Given the description of an element on the screen output the (x, y) to click on. 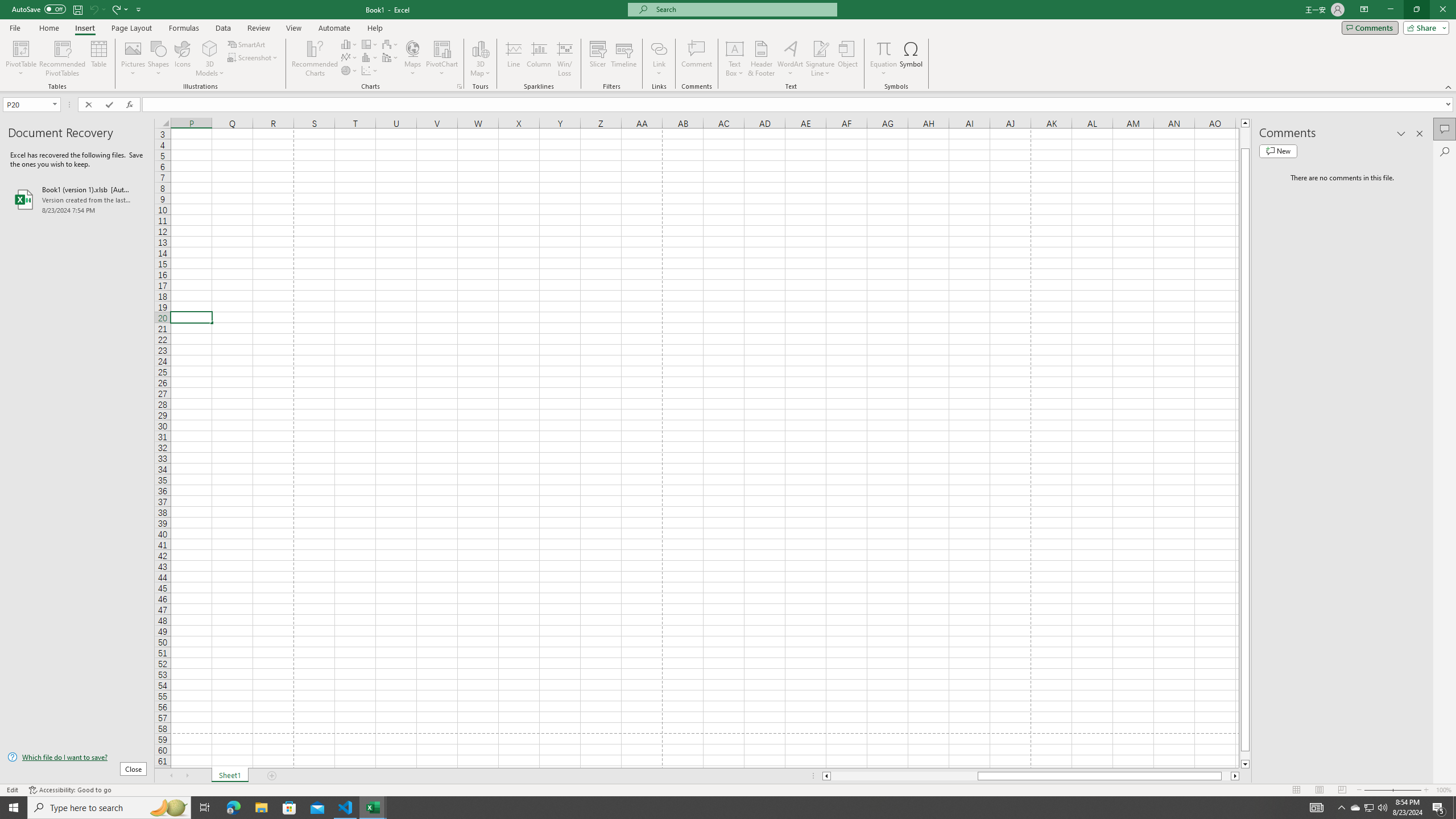
Object... (847, 58)
Recommended PivotTables (62, 58)
PivotTable (20, 48)
Text Box (734, 58)
3D Models (210, 48)
3D Map (480, 48)
Draw Horizontal Text Box (734, 48)
Icons (182, 58)
